Given the description of an element on the screen output the (x, y) to click on. 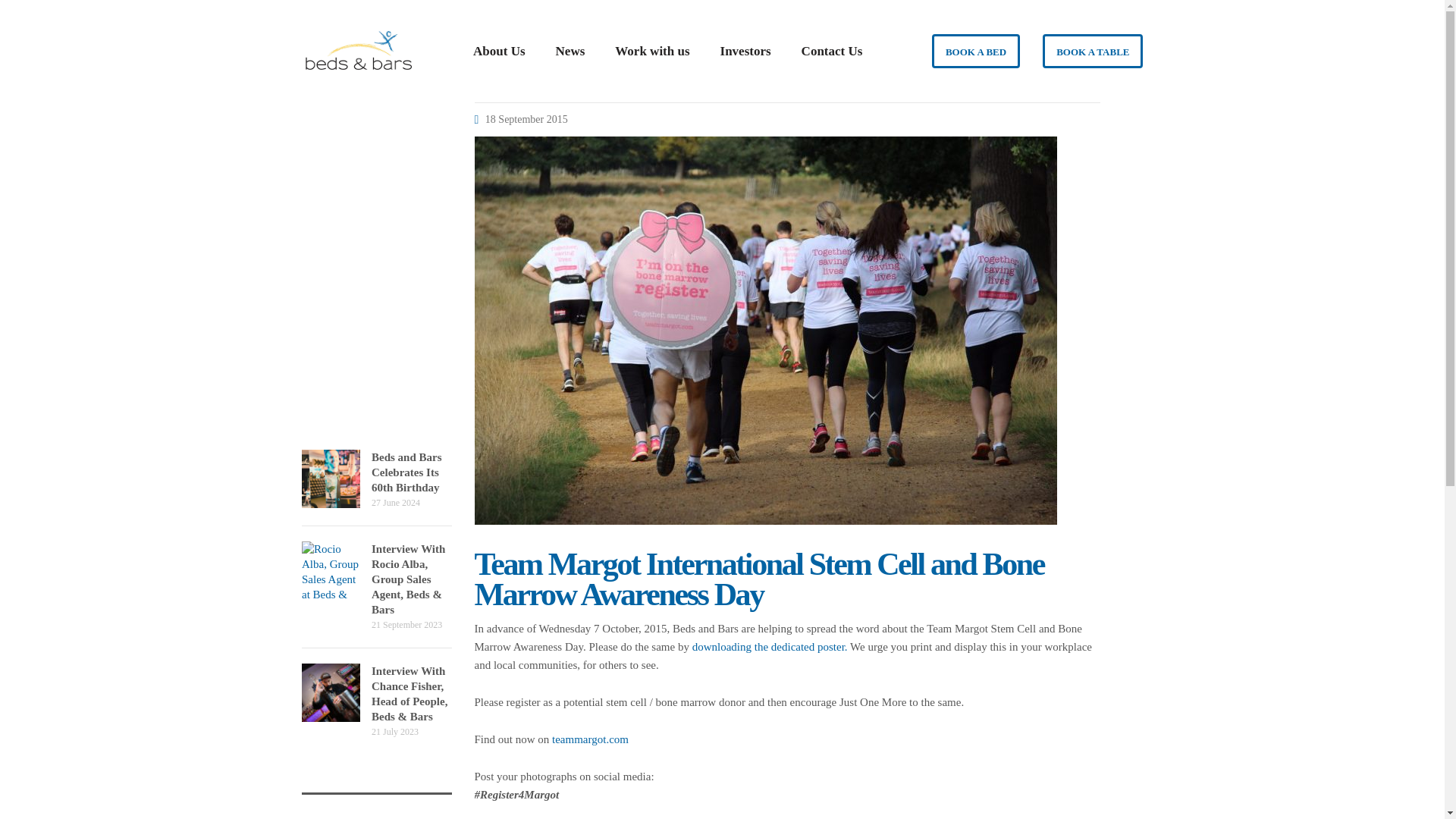
News (569, 50)
About Us (499, 50)
downloading the dedicated poster. (770, 646)
Untitled design - 2023-09-20T152722.805 (330, 570)
Investors (376, 479)
ChanceFisher (745, 50)
Beds and Bars Celebrates Its 60th Birthday (330, 692)
Contact Us (376, 479)
BOOK A BED (831, 50)
